Given the description of an element on the screen output the (x, y) to click on. 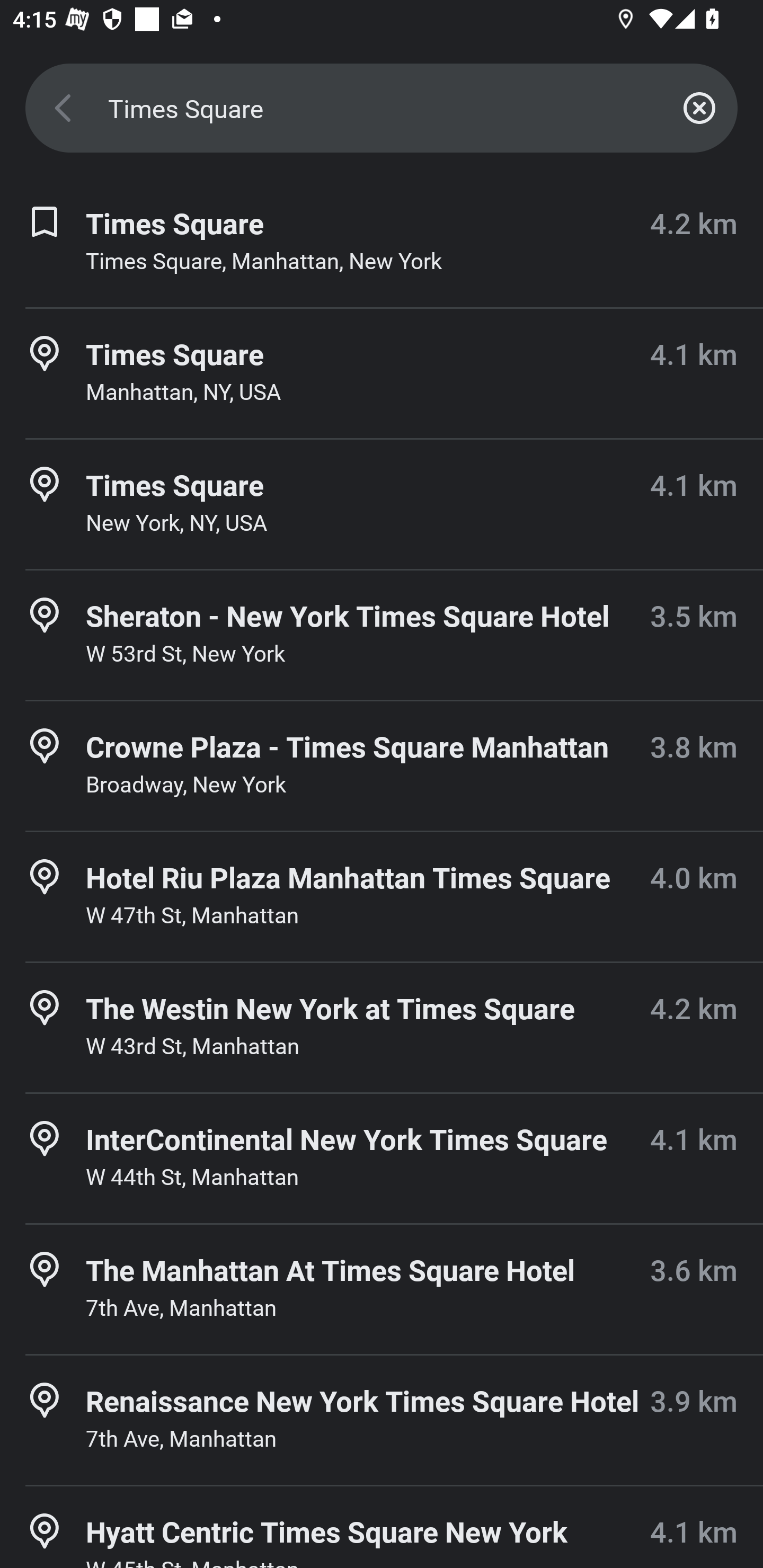
Times Square SEARCH_SCREEN_SEARCH_FIELD (381, 108)
Times Square 4.1 km Manhattan, NY, USA (381, 372)
Times Square 4.1 km New York, NY, USA (381, 504)
